Given the description of an element on the screen output the (x, y) to click on. 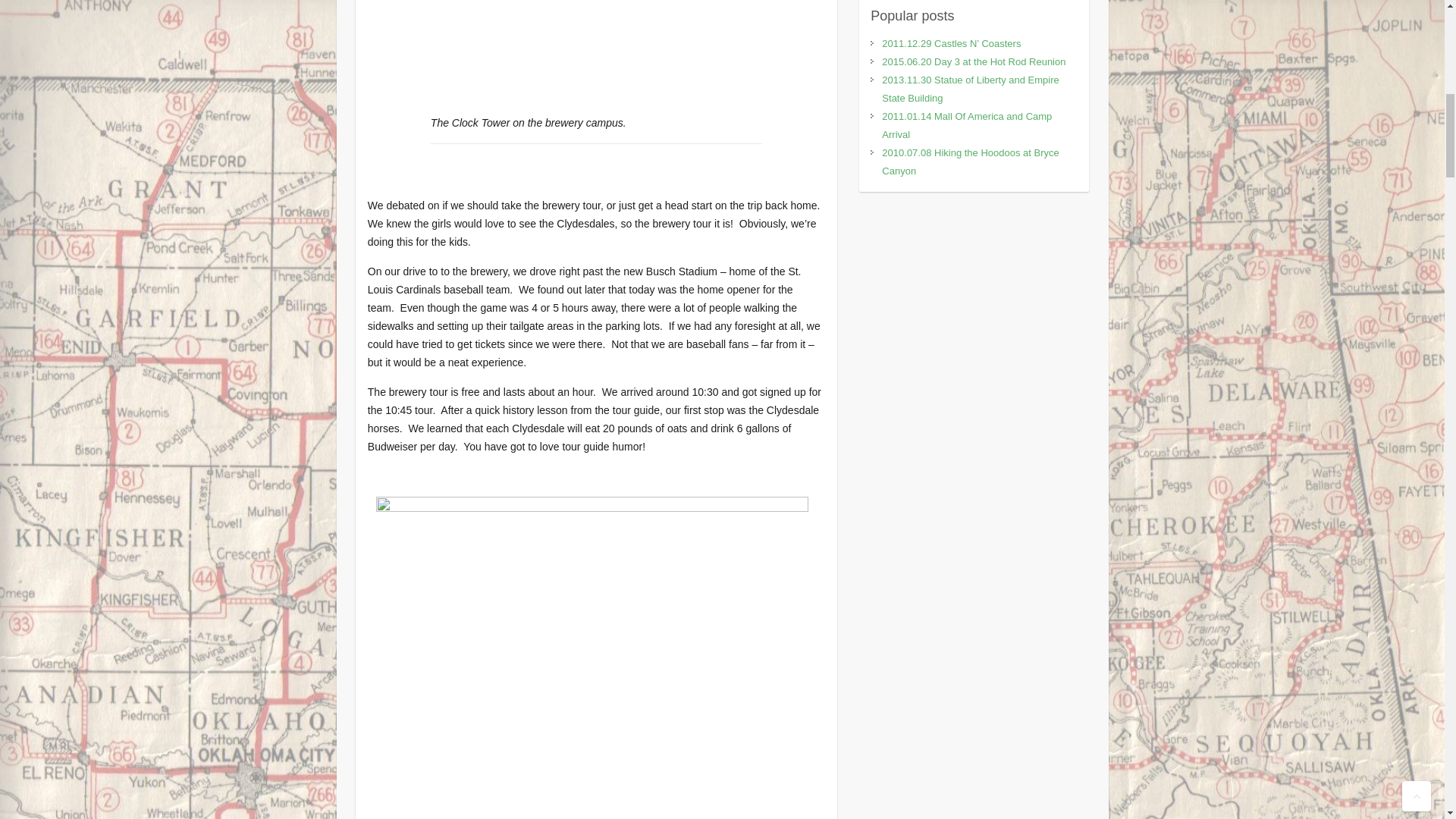
2011.01.14 Mall Of America and Camp Arrival (966, 125)
2013.11.30 Statue of Liberty and Empire State Building (970, 89)
The Clock Tower on the brewery campus. (592, 51)
2015.06.20 Day 3 at the Hot Rod Reunion (973, 61)
